Given the description of an element on the screen output the (x, y) to click on. 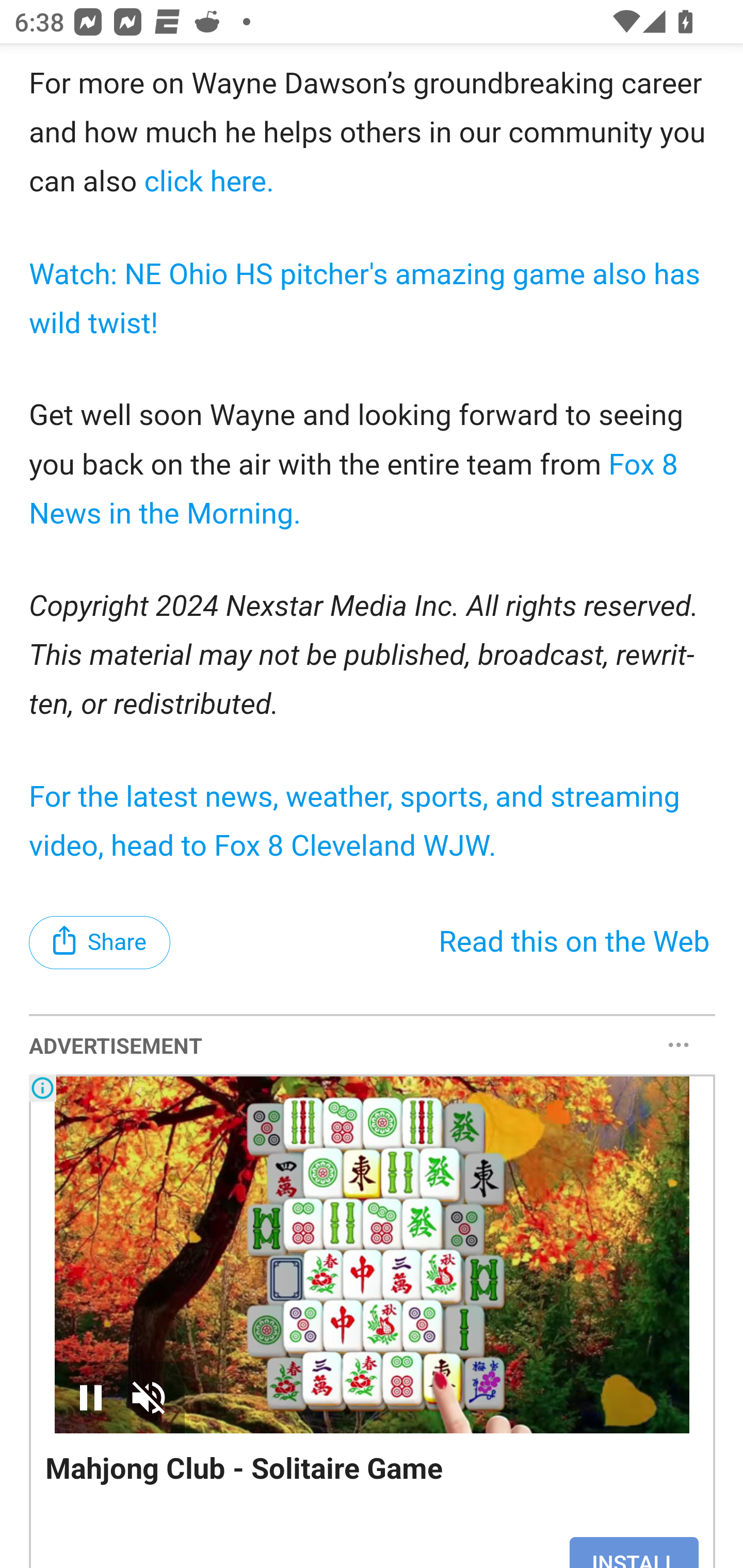
 click here. (204, 181)
Fox 8 News in the Morning. (353, 489)
Read this on the Web (573, 943)
Share (99, 942)
